Given the description of an element on the screen output the (x, y) to click on. 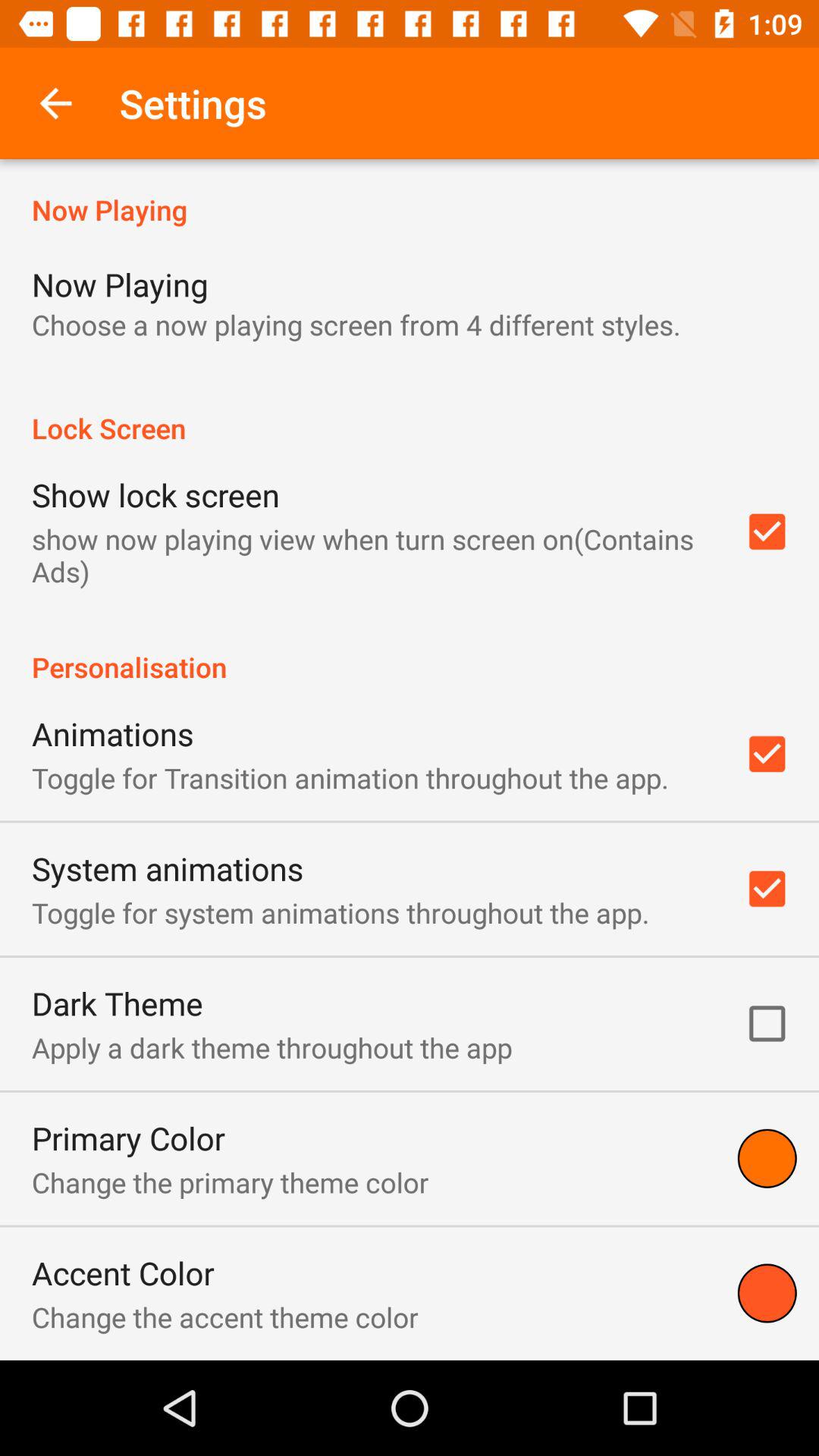
scroll until personalisation (409, 650)
